Given the description of an element on the screen output the (x, y) to click on. 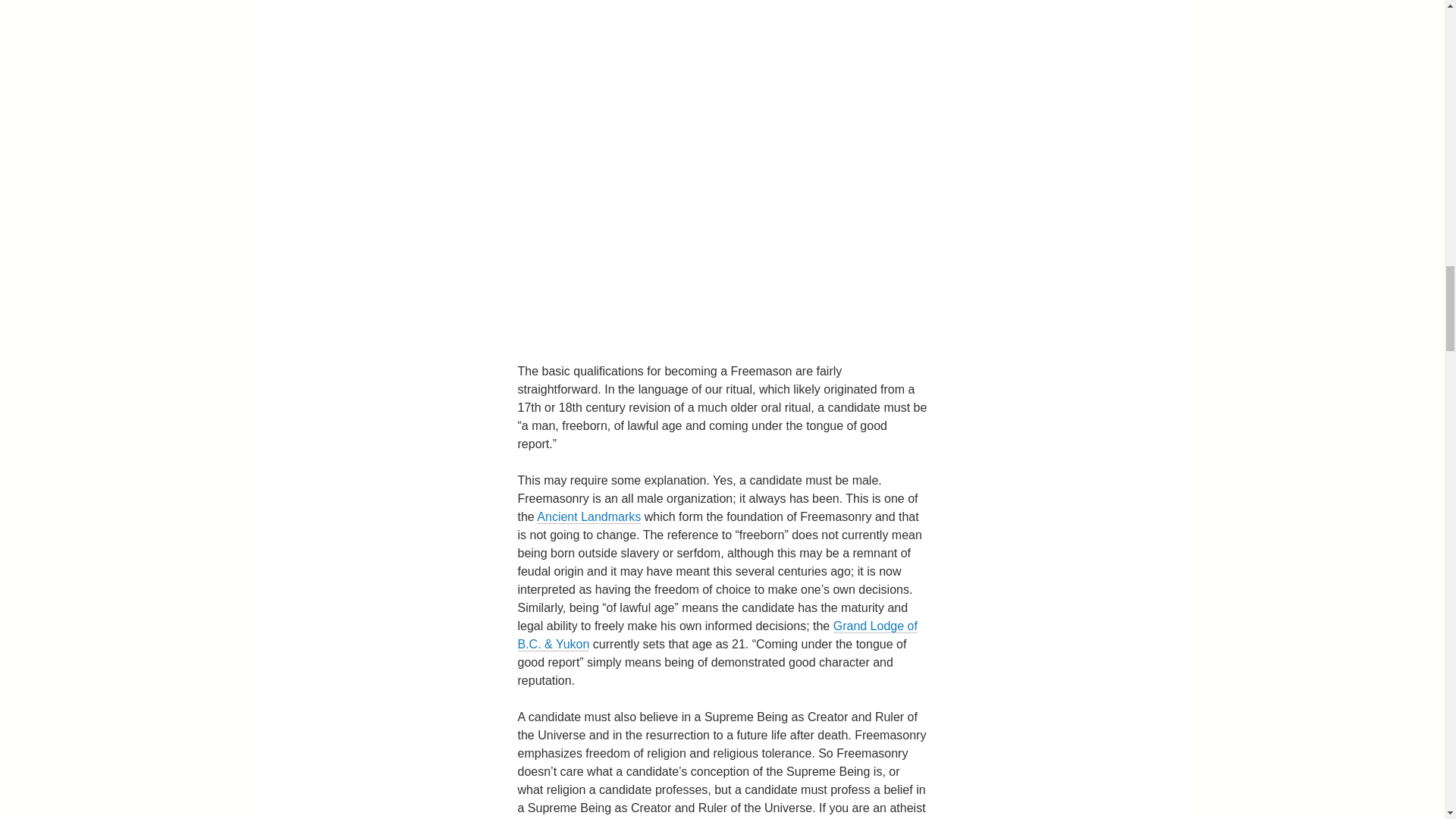
Ancient Landmarks (588, 517)
